Given the description of an element on the screen output the (x, y) to click on. 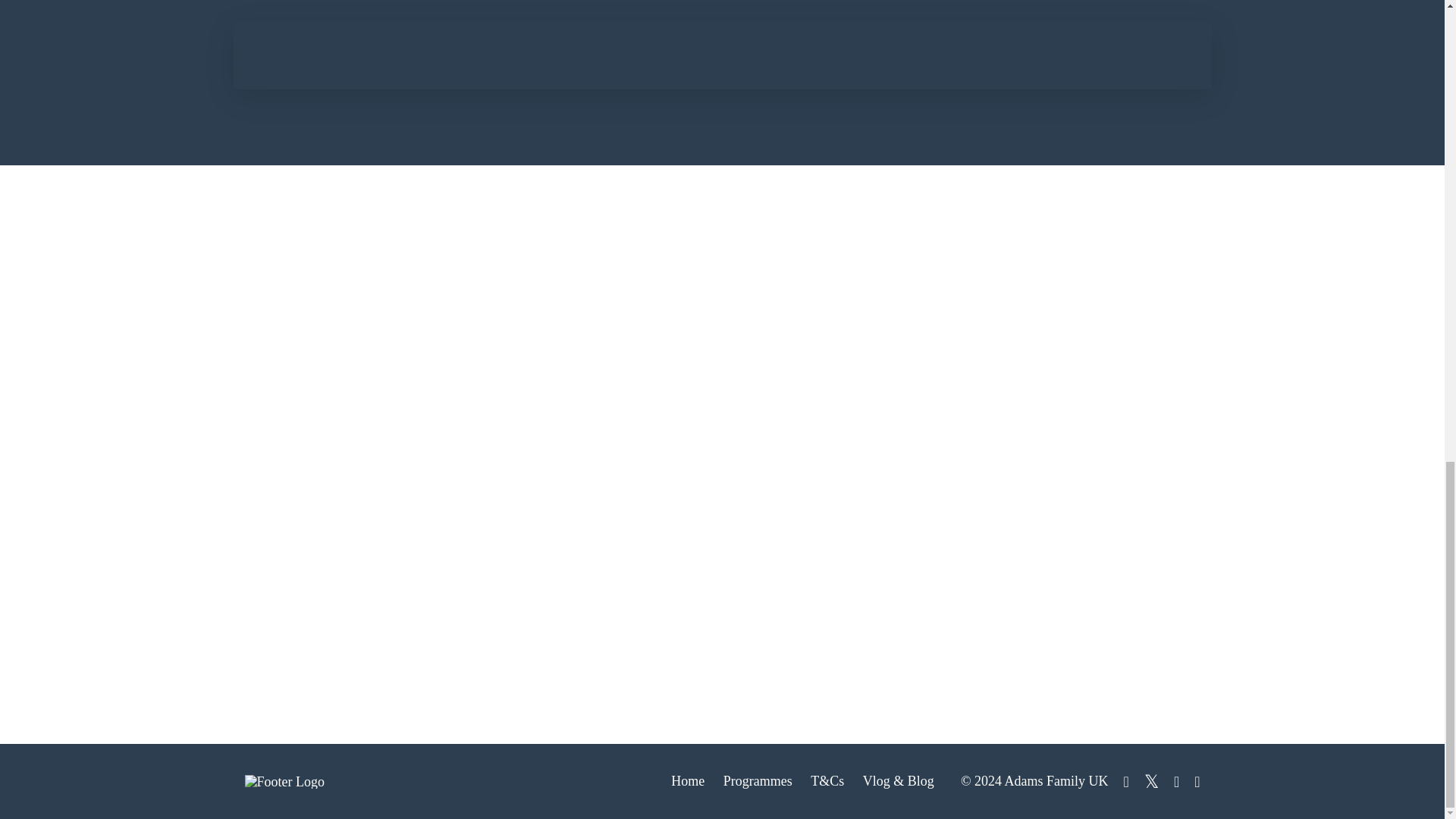
Programmes (757, 780)
Send (733, 451)
Home (687, 780)
